Given the description of an element on the screen output the (x, y) to click on. 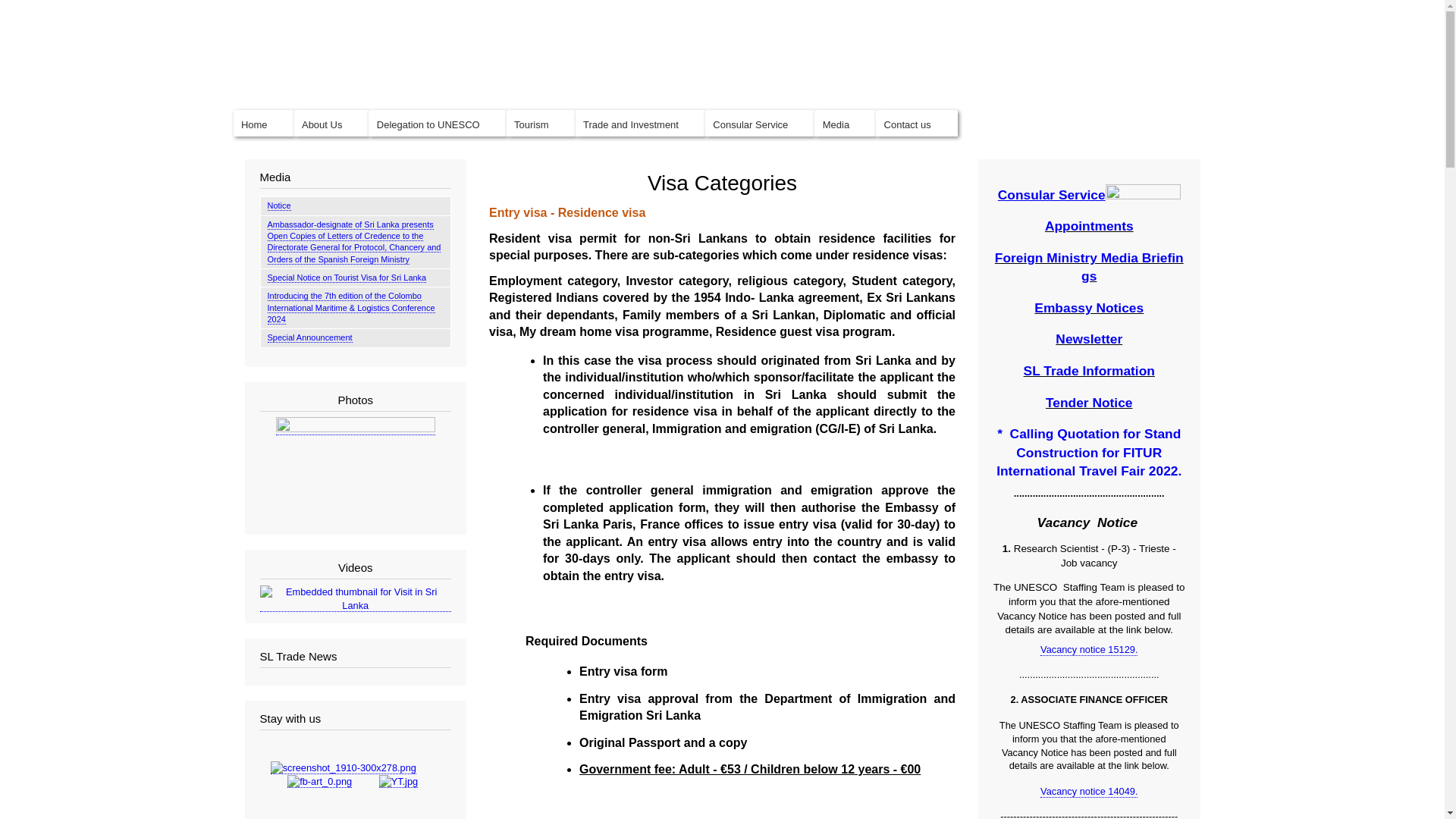
Skip to main content (722, 1)
Consular Service (758, 124)
Home (263, 124)
Media (844, 124)
Trade and Investment (639, 124)
Delegation to UNESCO (436, 124)
Tourism (540, 124)
About Us (331, 124)
